Given the description of an element on the screen output the (x, y) to click on. 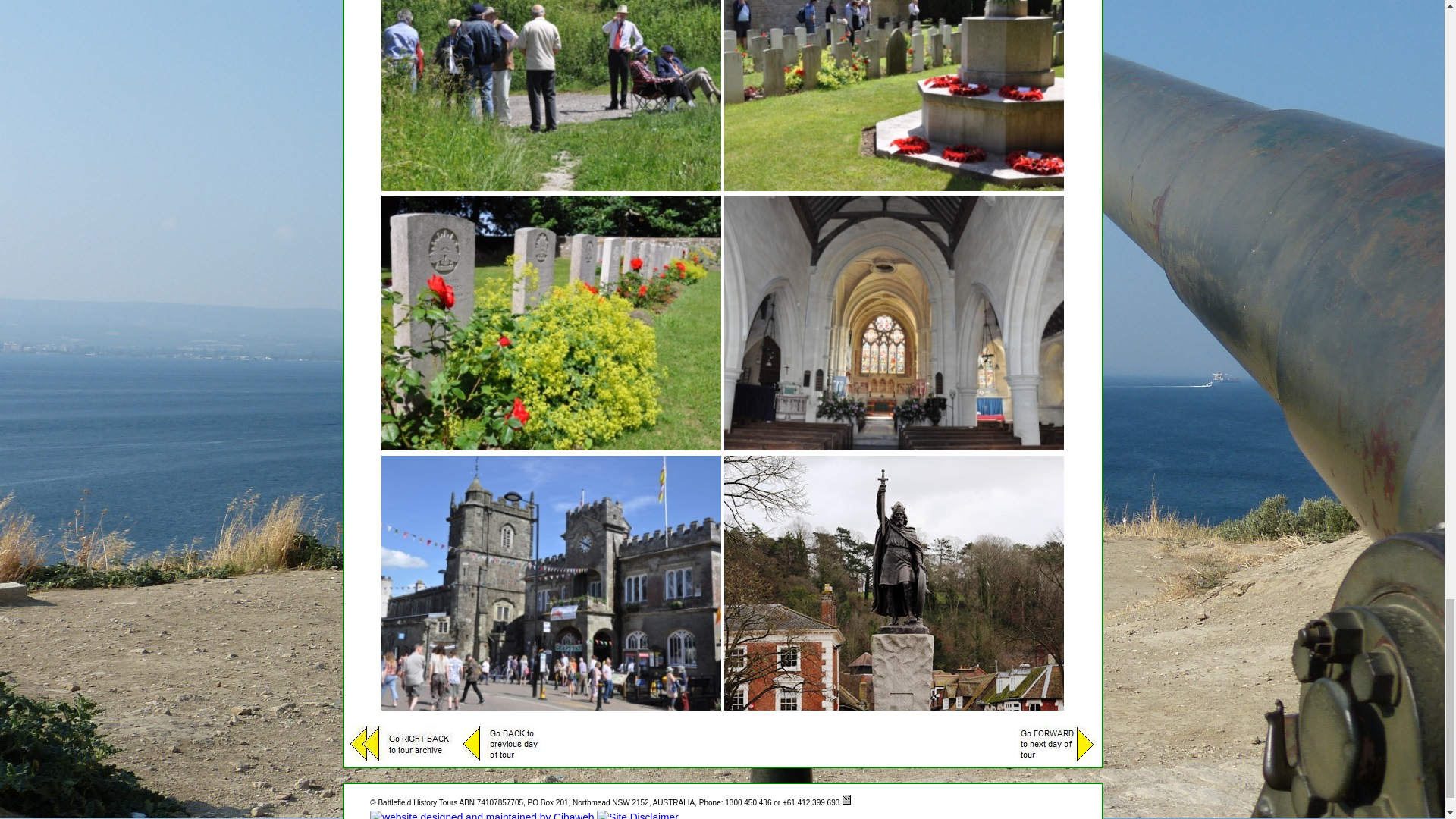
RAAF in the UK Tour 2017 (893, 95)
RAAF in the UK Tour 2017 (893, 322)
RAAF in the UK Tour 2017 (550, 322)
RAAF in the UK Tour 2017 (550, 95)
